Given the description of an element on the screen output the (x, y) to click on. 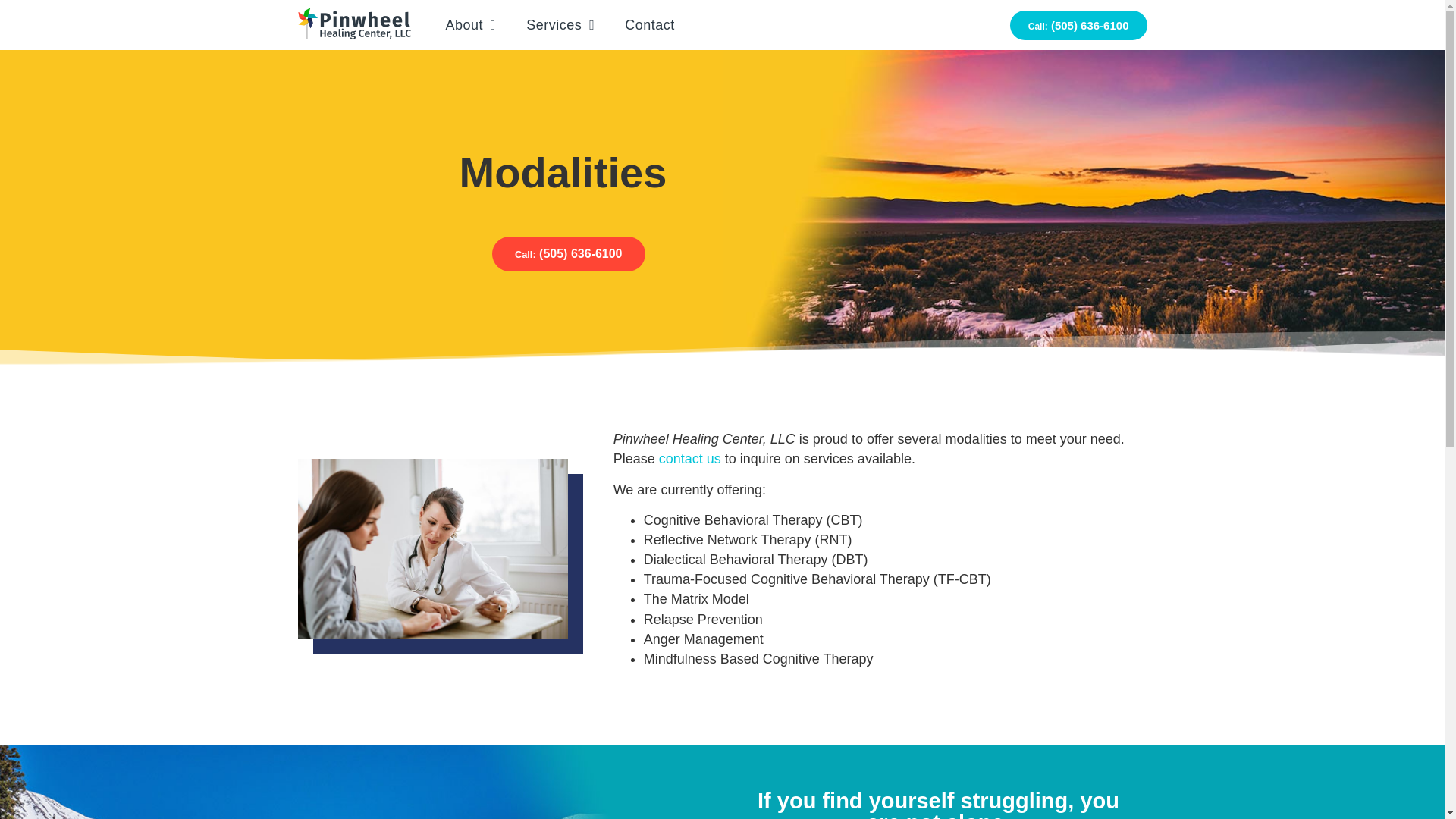
Contact (650, 24)
About (471, 24)
Services (560, 24)
